Given the description of an element on the screen output the (x, y) to click on. 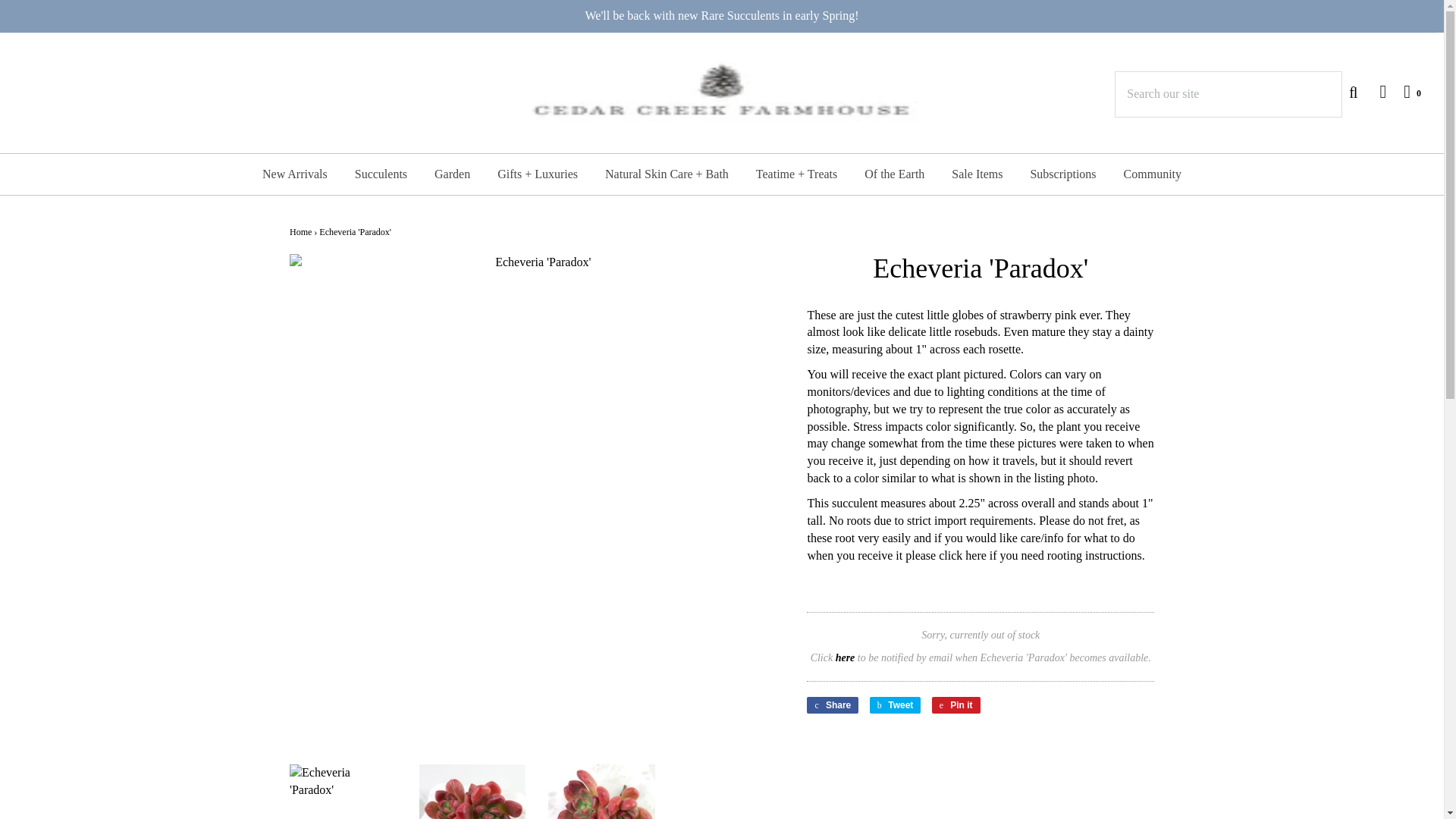
We'll be back with new Rare Succulents in early Spring! (722, 16)
Your Cart (1405, 91)
Succulents (381, 174)
Log in (1375, 91)
Back to the frontpage (300, 231)
Garden (452, 174)
Search our site (1228, 94)
New Arrivals (294, 174)
Echeveria 'Paradox' (601, 791)
Echeveria 'Paradox' (342, 791)
